Given the description of an element on the screen output the (x, y) to click on. 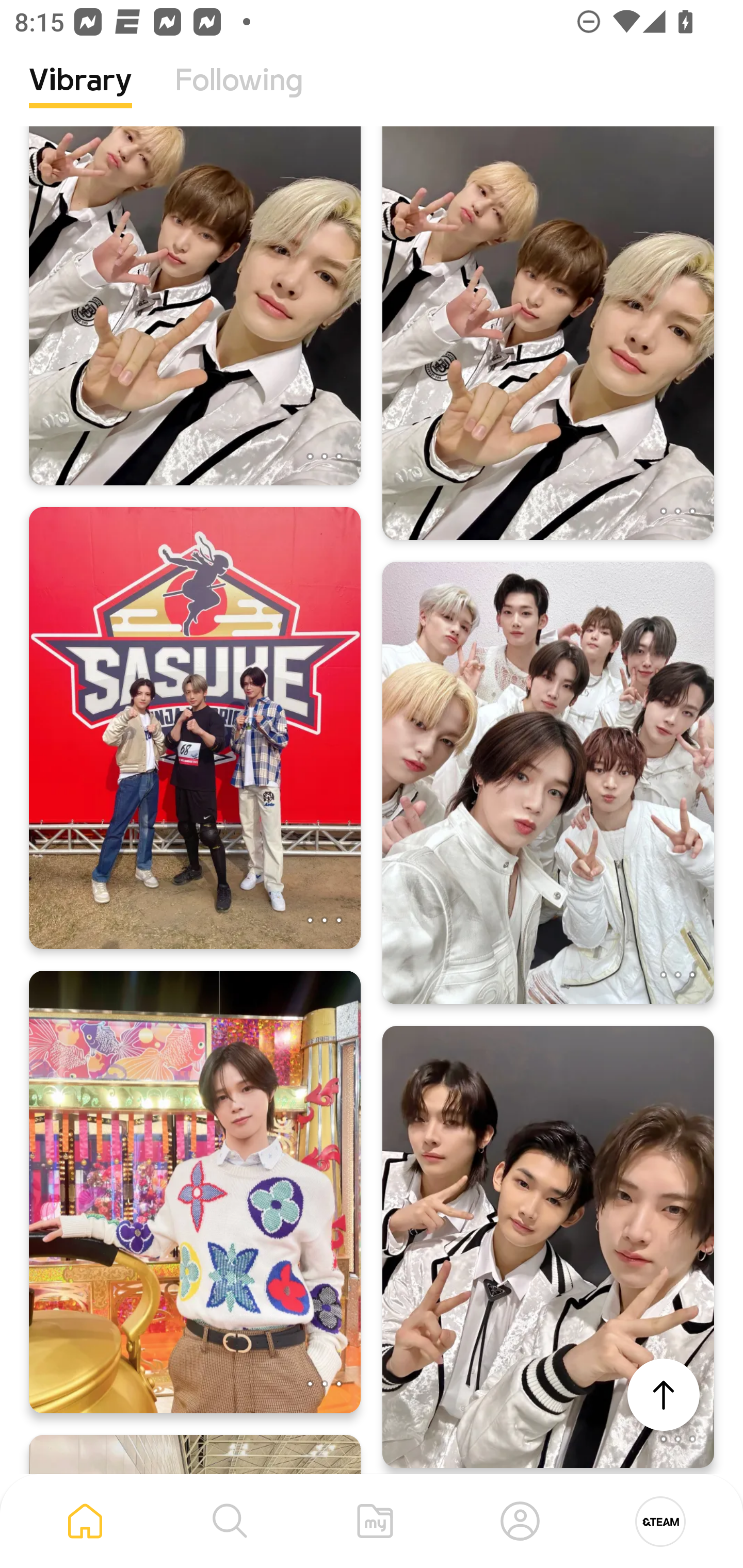
Vibrary (80, 95)
Following (239, 95)
